Given the description of an element on the screen output the (x, y) to click on. 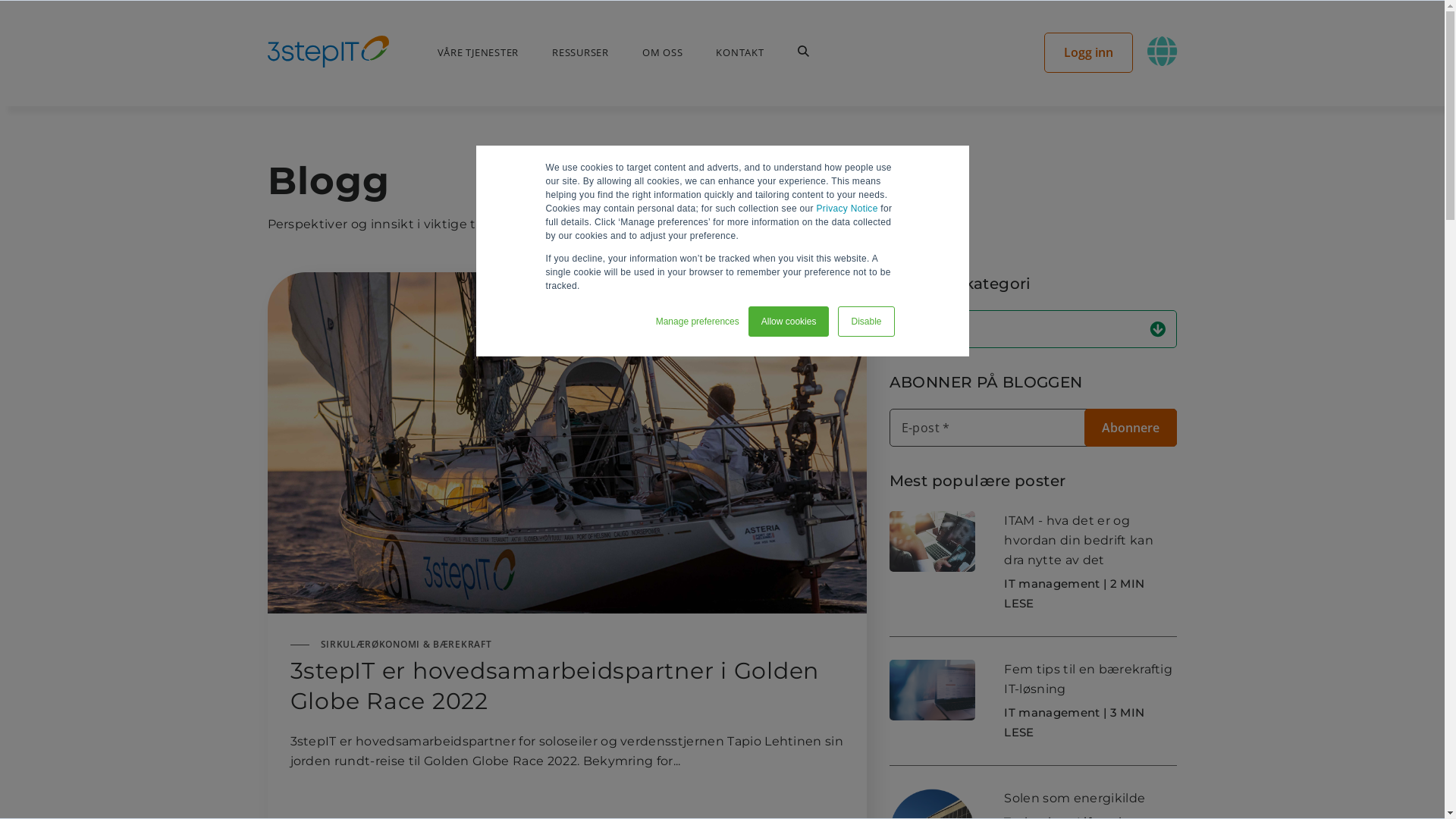
Privacy Notice Element type: text (847, 208)
Manage preferences Element type: text (697, 320)
Abonnere Element type: text (1130, 427)
Disable Element type: text (865, 321)
RESSURSER Element type: text (580, 52)
Allow cookies Element type: text (788, 321)
KONTAKT Element type: text (739, 52)
OM OSS Element type: text (662, 52)
Logg inn Element type: text (1088, 52)
